Given the description of an element on the screen output the (x, y) to click on. 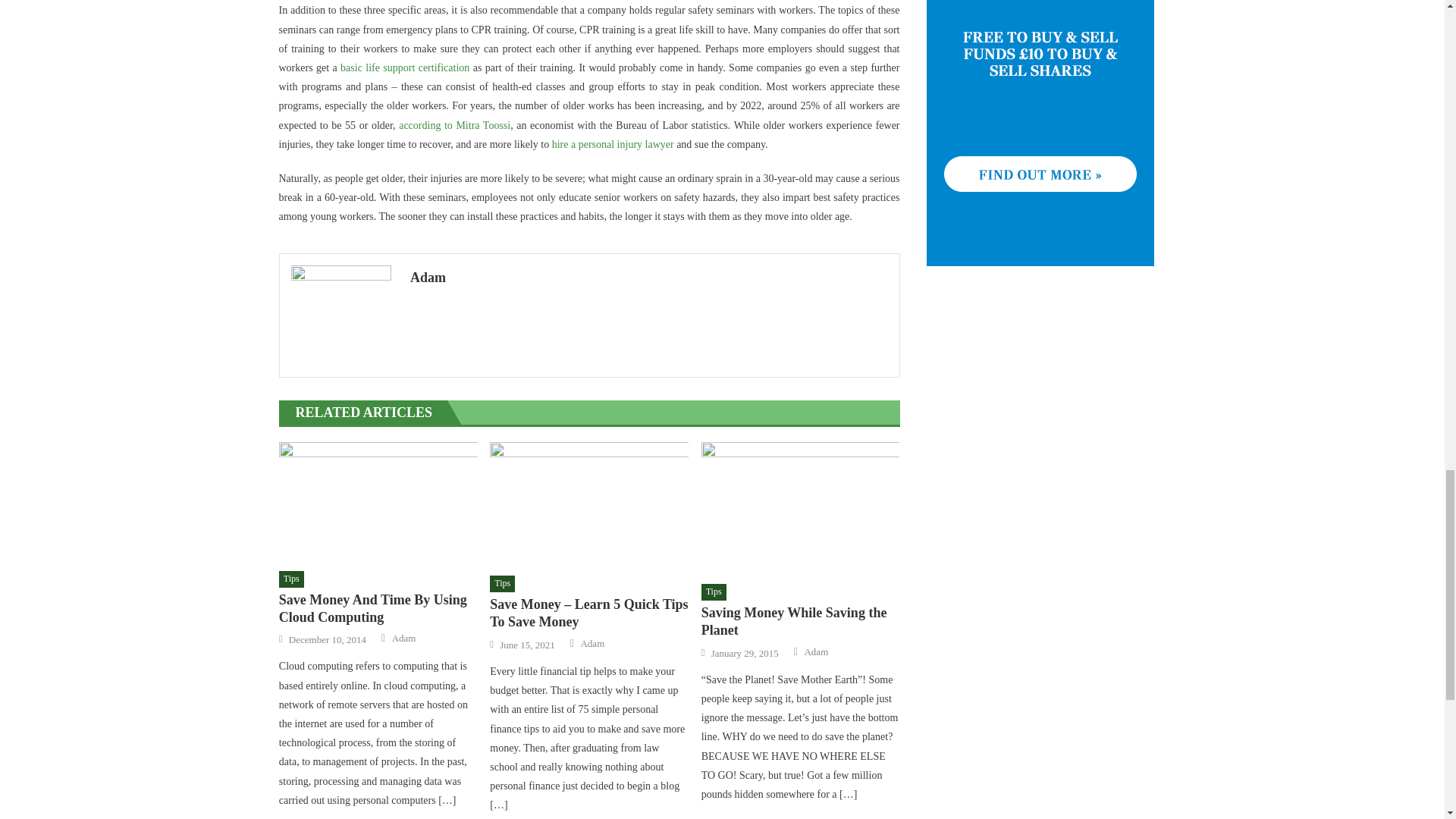
Save Money And Time By Using Cloud Computing (378, 609)
January 29, 2015 (744, 653)
Save Money And Time By Using Cloud Computing (378, 501)
Tips (291, 579)
Adam (649, 277)
December 10, 2014 (327, 640)
hire a personal injury lawyer (612, 143)
basic life support certification (404, 67)
Adam (815, 652)
Adam (591, 643)
